Given the description of an element on the screen output the (x, y) to click on. 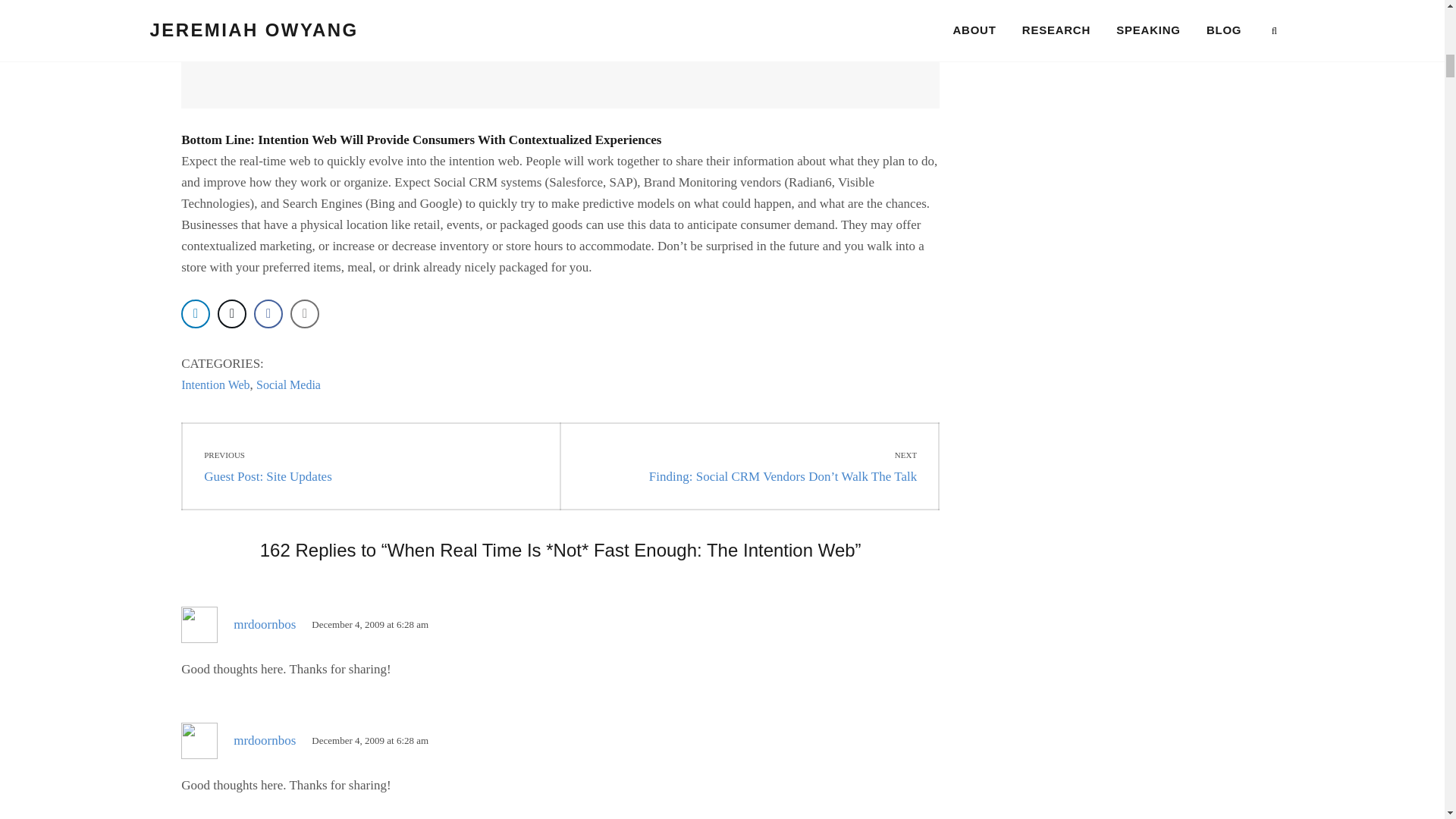
December 4, 2009 at 6:28 am (369, 624)
December 4, 2009 at 6:28 am (369, 740)
mrdoornbos (263, 624)
Intention Web (214, 384)
goal to attend the upcoming SAP event (718, 23)
Social Media (288, 384)
mrdoornbos (263, 740)
